Given the description of an element on the screen output the (x, y) to click on. 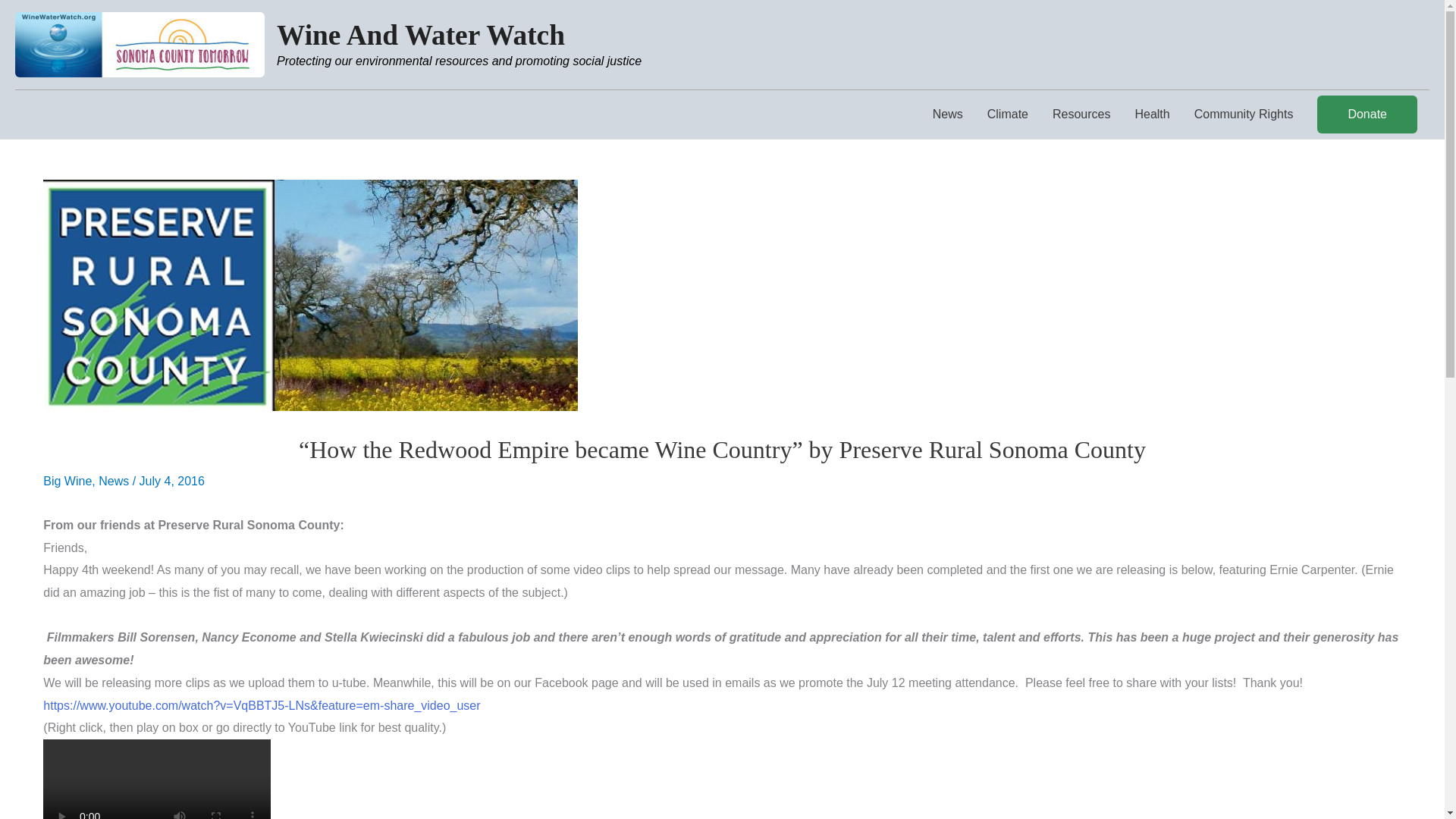
Community Rights (1244, 114)
Wine And Water Watch (420, 34)
News (114, 481)
Resources (1081, 114)
Climate (1008, 114)
Health (1151, 114)
Big Wine (67, 481)
Donate (1366, 114)
News (947, 114)
